Given the description of an element on the screen output the (x, y) to click on. 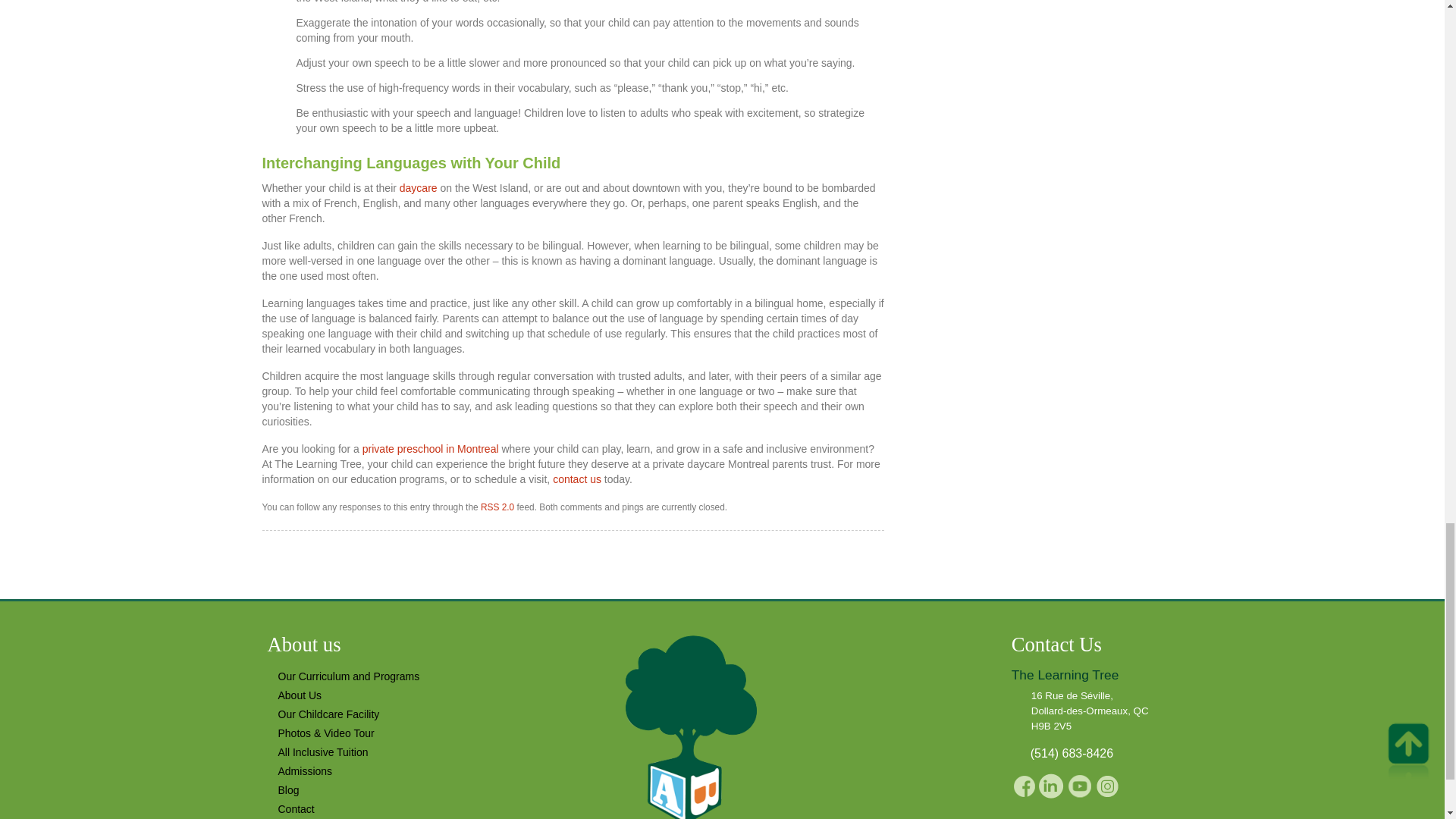
RSS 2.0 (496, 507)
daycare (418, 187)
private preschool in Montreal (430, 449)
contact us (577, 479)
